Given the description of an element on the screen output the (x, y) to click on. 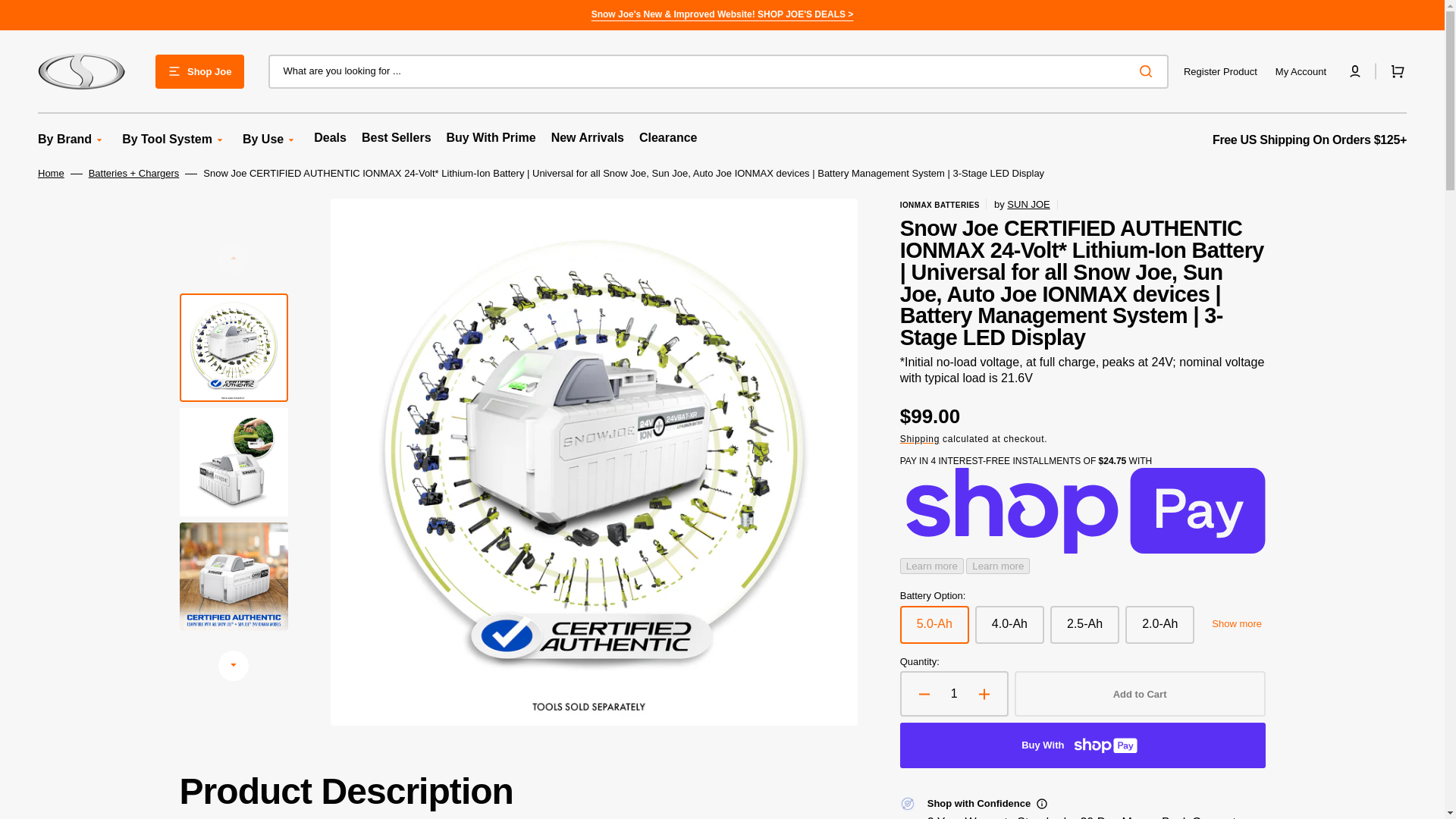
Buy With Prime (490, 138)
Shipping Policy (1309, 139)
By Use (263, 139)
Home (50, 173)
By Tool System (167, 139)
New Arrivals (587, 138)
Best Sellers (395, 138)
Deals (330, 138)
